Given the description of an element on the screen output the (x, y) to click on. 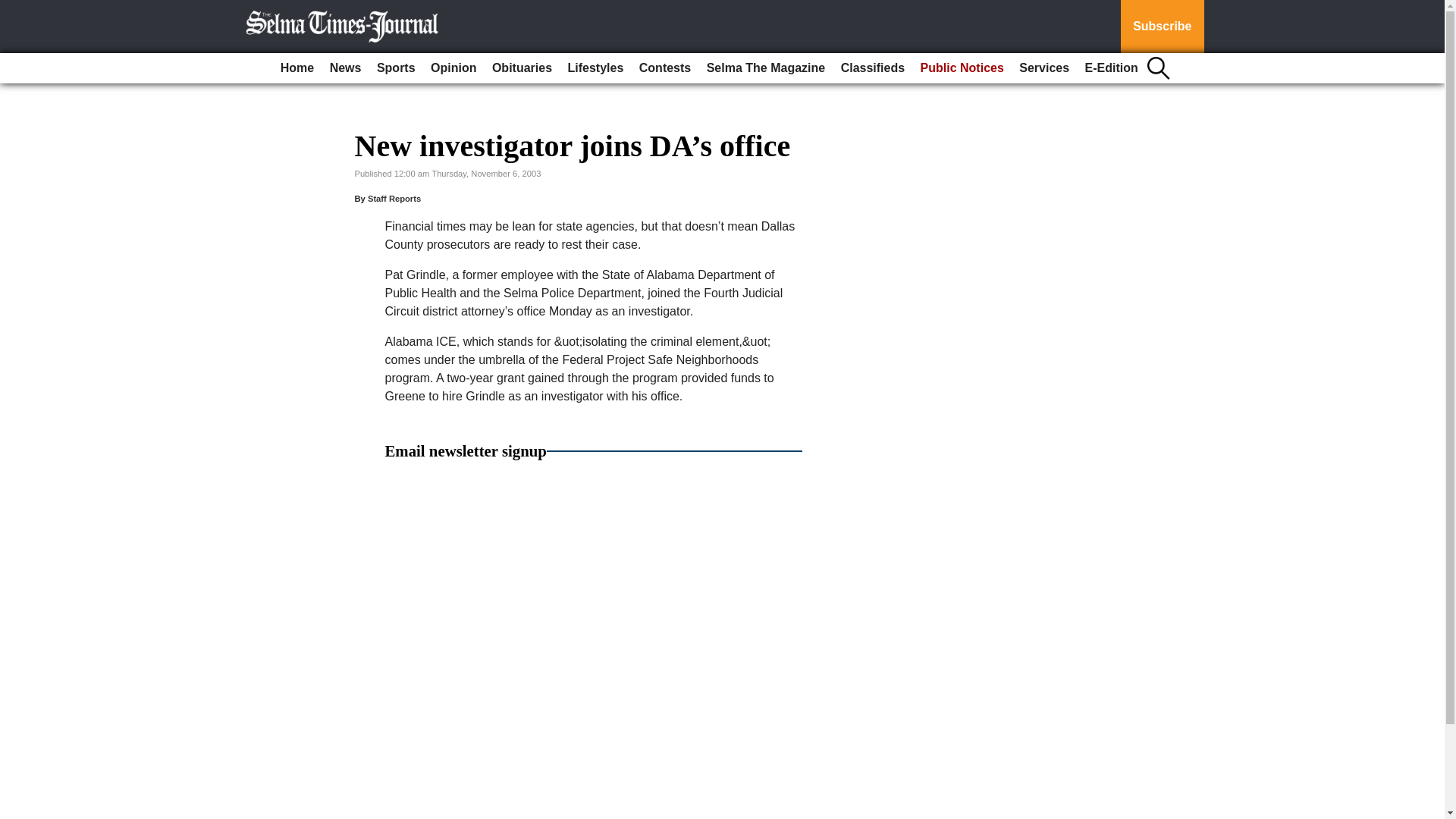
Classifieds (872, 68)
Selma The Magazine (765, 68)
Obituaries (521, 68)
Contests (665, 68)
Services (1044, 68)
News (345, 68)
Opinion (453, 68)
Go (13, 9)
Sports (396, 68)
Public Notices (962, 68)
